Given the description of an element on the screen output the (x, y) to click on. 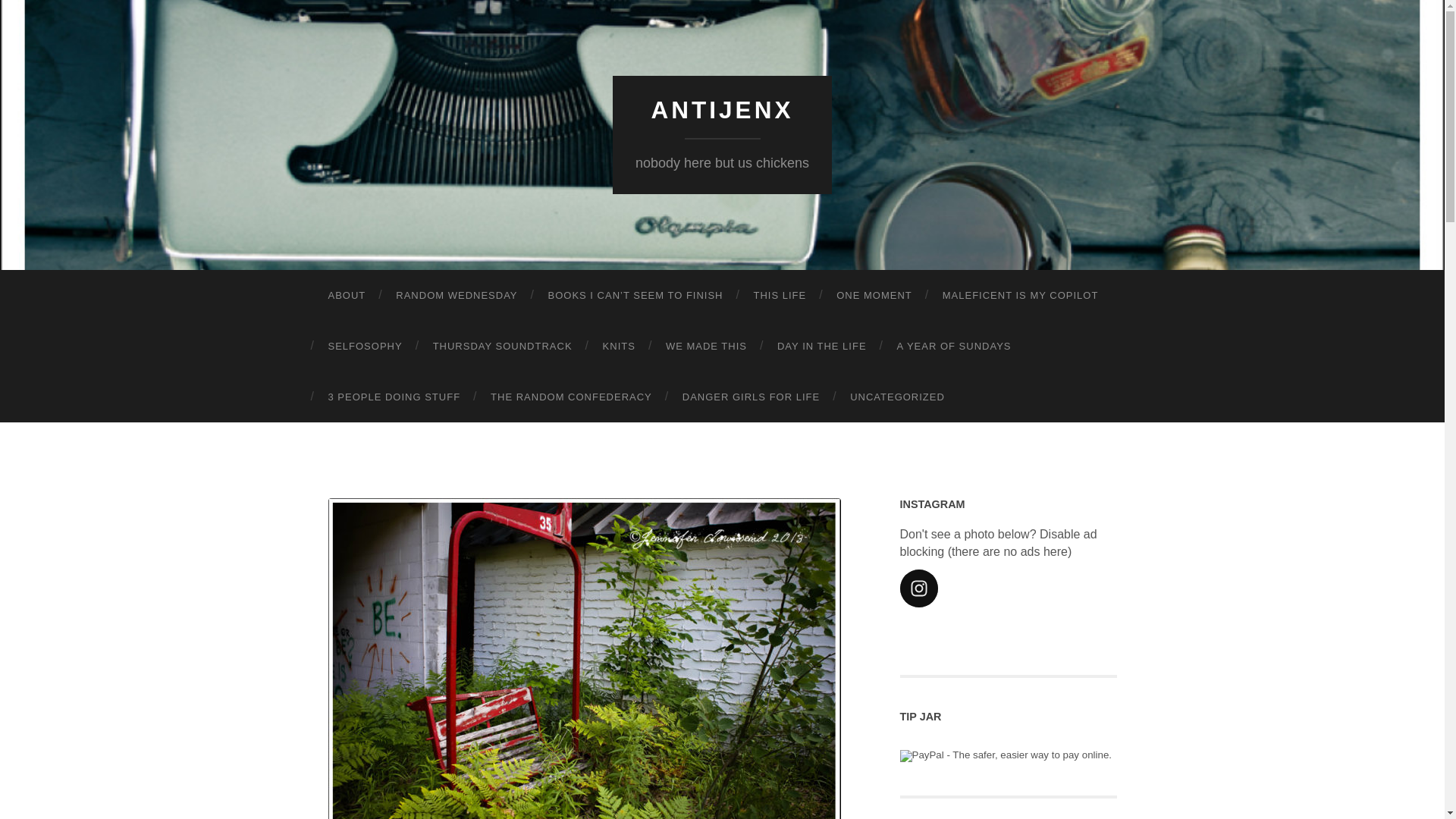
DANGER GIRLS FOR LIFE (750, 396)
WE MADE THIS (705, 346)
MALEFICENT IS MY COPILOT (1020, 295)
UNCATEGORIZED (896, 396)
ABOUT (346, 295)
THE RANDOM CONFEDERACY (571, 396)
DAY IN THE LIFE (821, 346)
SELFOSOPHY (364, 346)
ANTIJENX (721, 109)
KNITS (619, 346)
